Given the description of an element on the screen output the (x, y) to click on. 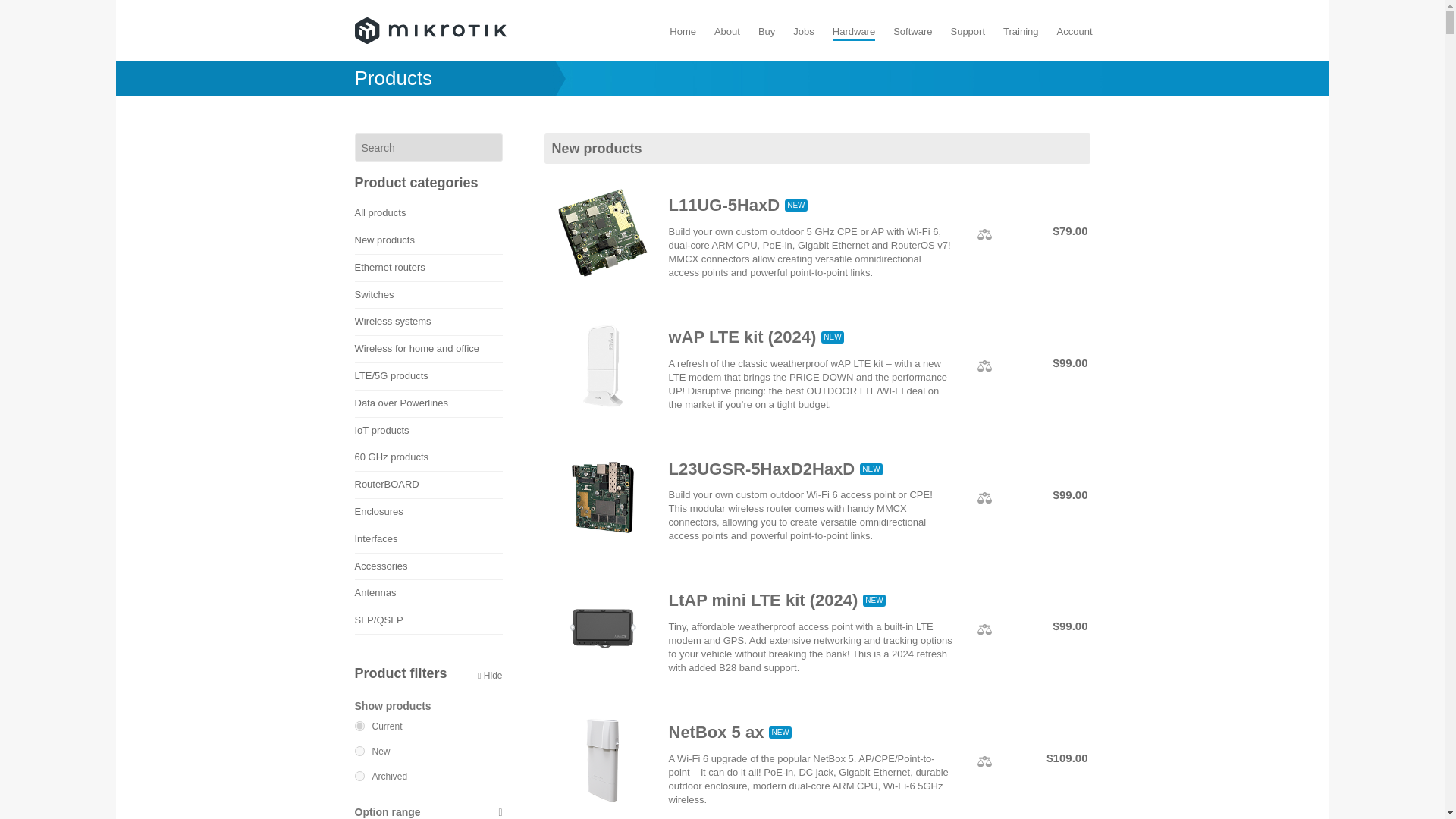
Switches (428, 294)
Compare (983, 365)
Compare (983, 234)
60 GHz products (428, 457)
Ethernet routers (428, 267)
IoT products (428, 430)
Data over Powerlines (428, 403)
Compare (983, 629)
Interfaces (428, 539)
All products (428, 212)
